Given the description of an element on the screen output the (x, y) to click on. 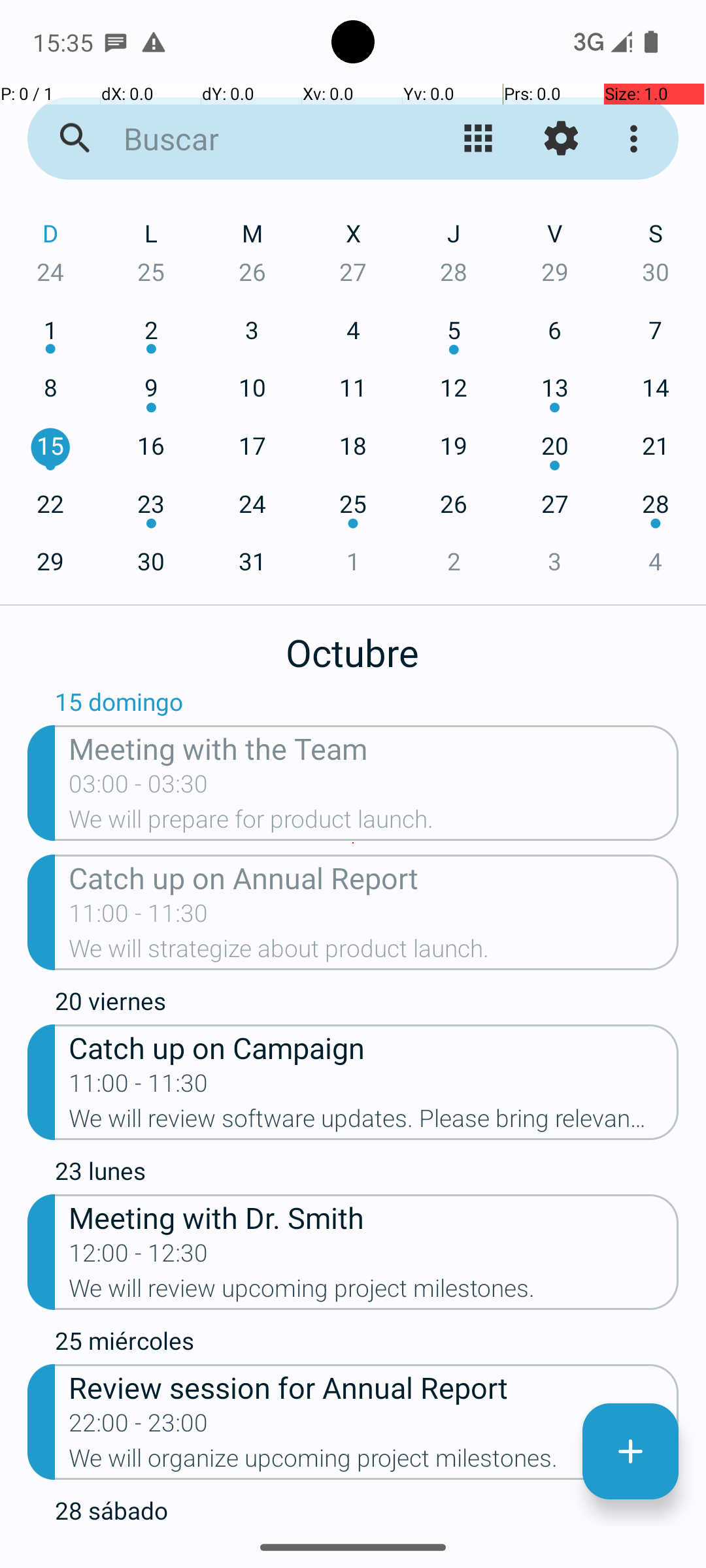
15 domingo Element type: android.widget.TextView (366, 704)
20 viernes Element type: android.widget.TextView (366, 1003)
23 lunes Element type: android.widget.TextView (366, 1173)
25 miércoles Element type: android.widget.TextView (366, 1343)
28 sábado Element type: android.widget.TextView (366, 1509)
Meeting with the Team Element type: android.widget.TextView (373, 747)
03:00 - 03:30 Element type: android.widget.TextView (137, 787)
We will prepare for product launch. Element type: android.widget.TextView (373, 822)
Catch up on Annual Report Element type: android.widget.TextView (373, 876)
11:00 - 11:30 Element type: android.widget.TextView (137, 916)
We will strategize about product launch. Element type: android.widget.TextView (373, 952)
Catch up on Campaign Element type: android.widget.TextView (373, 1046)
We will review software updates. Please bring relevant documents. Element type: android.widget.TextView (373, 1122)
Meeting with Dr. Smith Element type: android.widget.TextView (373, 1216)
12:00 - 12:30 Element type: android.widget.TextView (137, 1256)
We will review upcoming project milestones. Element type: android.widget.TextView (373, 1291)
Review session for Annual Report Element type: android.widget.TextView (373, 1386)
22:00 - 23:00 Element type: android.widget.TextView (137, 1426)
We will organize upcoming project milestones. Element type: android.widget.TextView (373, 1461)
